Given the description of an element on the screen output the (x, y) to click on. 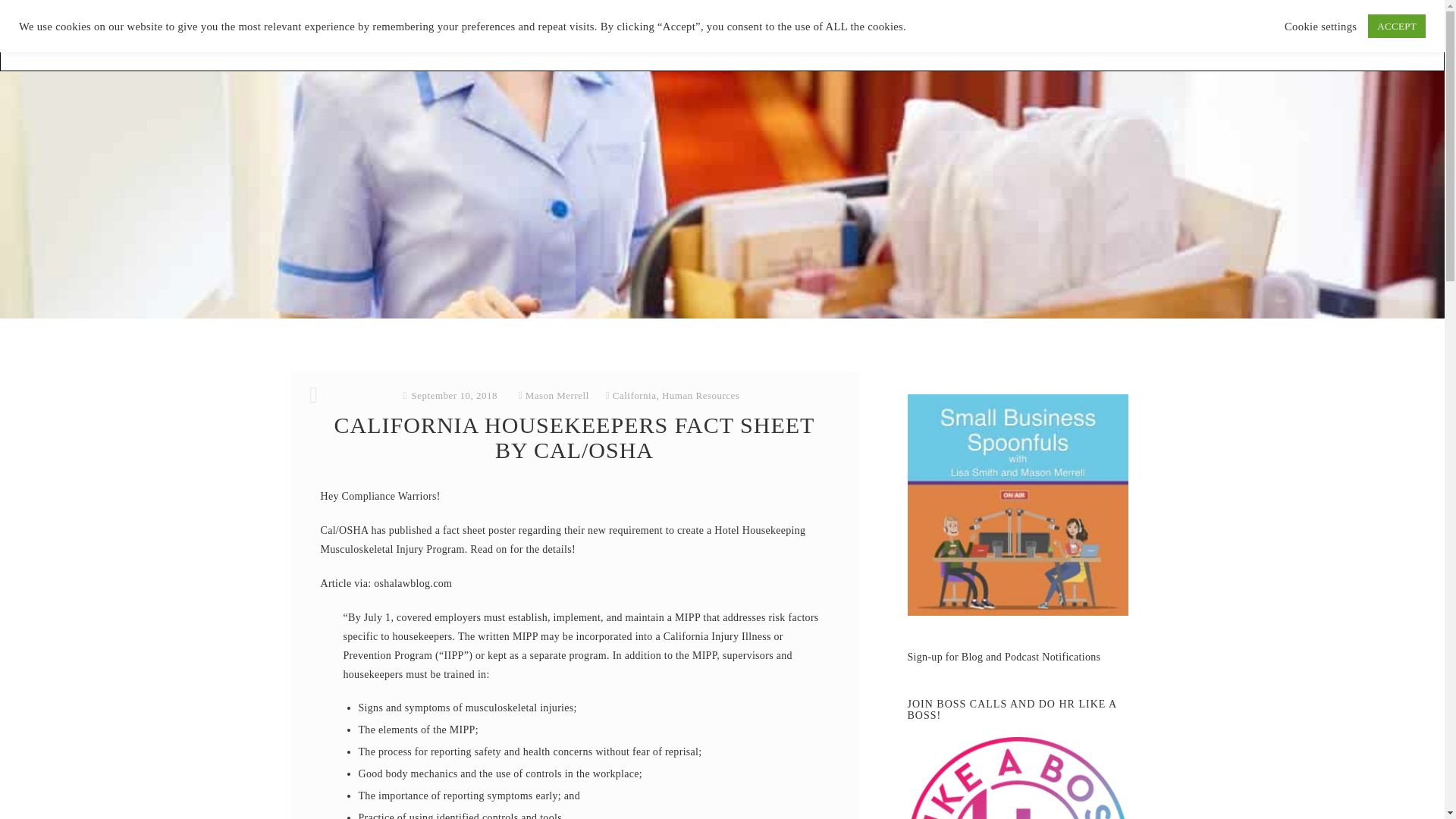
LAUNCH (936, 35)
REVIEWS (720, 35)
CONTACT (1005, 35)
Join Boss Calls and Do HR like a Boss! (1017, 778)
DEMO VIDEOS (854, 35)
